Given the description of an element on the screen output the (x, y) to click on. 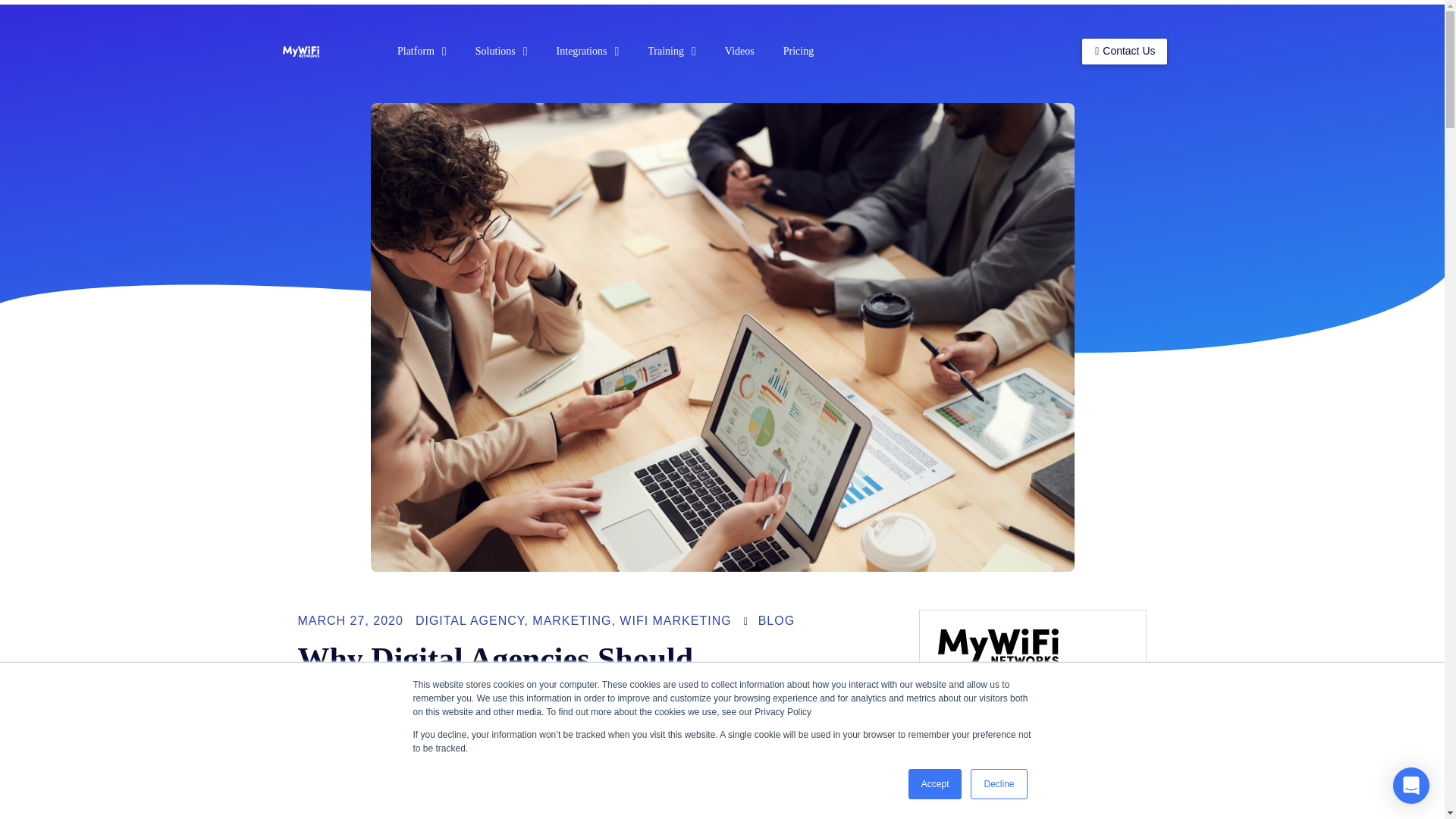
Pricing (798, 51)
Decline (998, 784)
Videos (739, 51)
Integrations (587, 51)
Training (671, 51)
Platform (421, 51)
Solutions (501, 51)
Accept (935, 784)
